Given the description of an element on the screen output the (x, y) to click on. 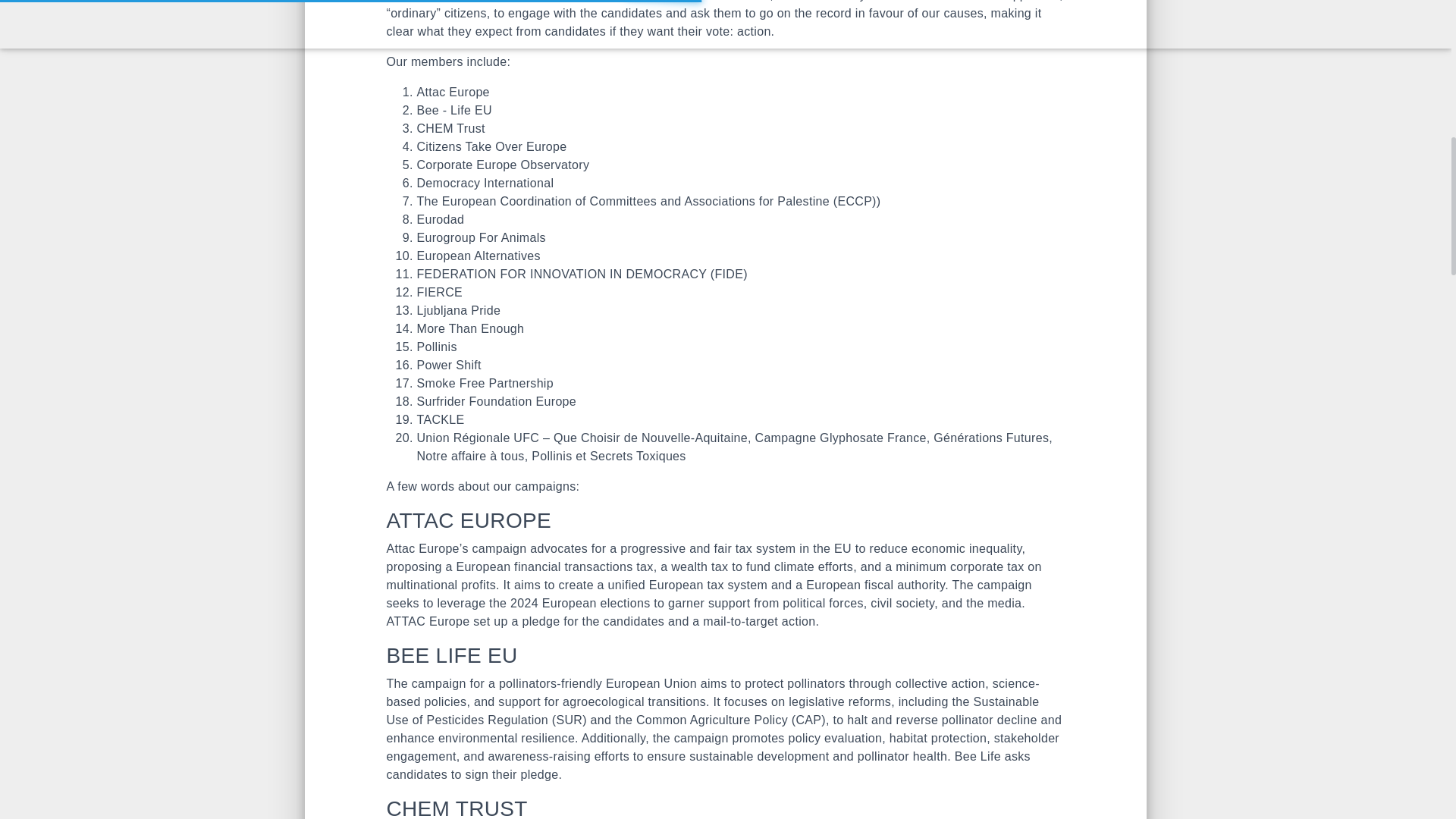
mail-to-target (740, 621)
pledge (540, 621)
pledge (538, 774)
